Given the description of an element on the screen output the (x, y) to click on. 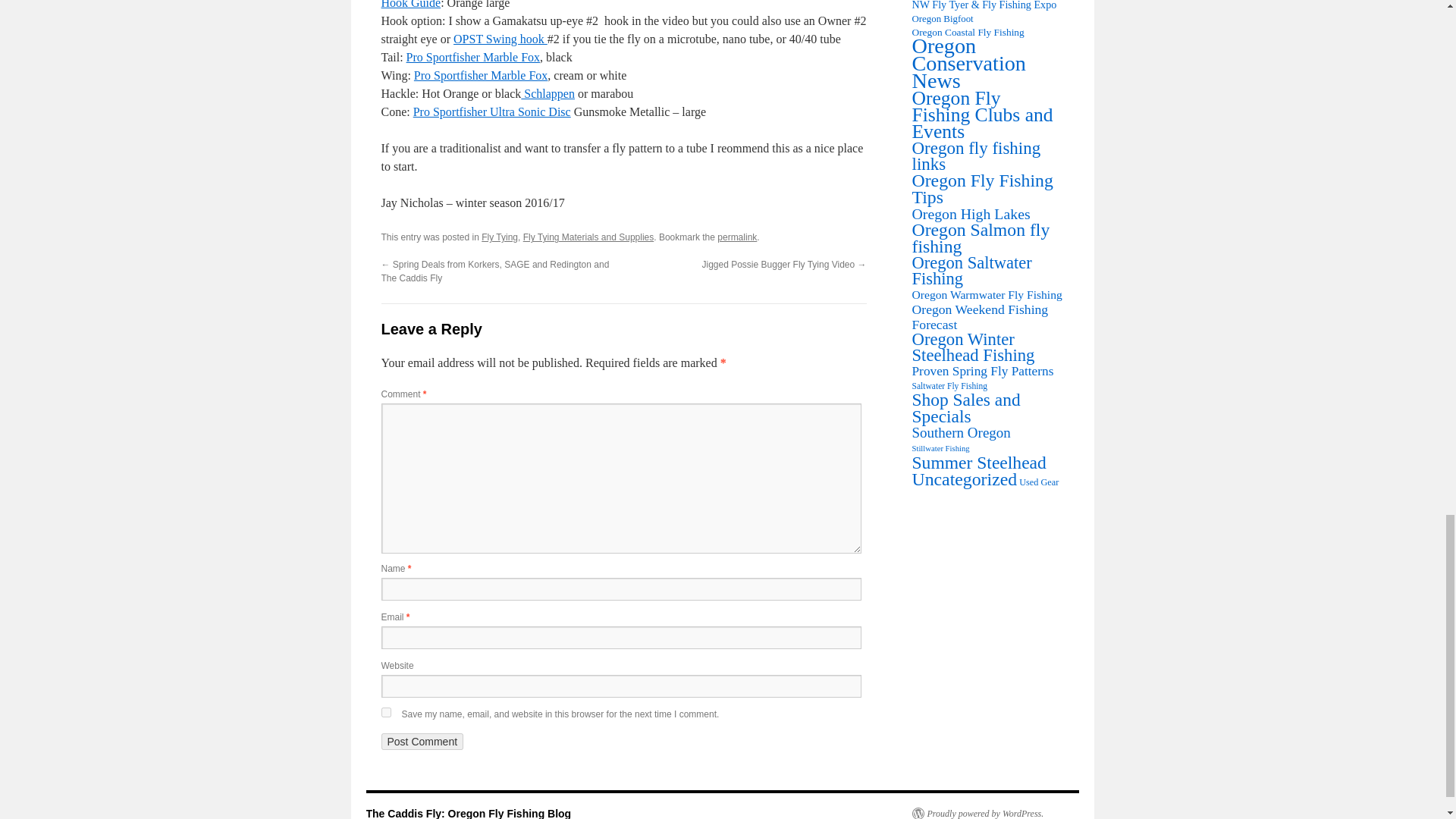
Pro Sportfisher Marble Fox (473, 56)
OPST Swing hook (499, 38)
Fly Tying Materials and Supplies (587, 236)
Post Comment (421, 741)
Post Comment (421, 741)
Pro Sportfisher Marble Fox (480, 74)
Permalink to Flame Boss Steelhead Tube Fly with Jay Nicholas (737, 236)
 Schlappen (548, 92)
Fly Tying (499, 236)
permalink (737, 236)
